Given the description of an element on the screen output the (x, y) to click on. 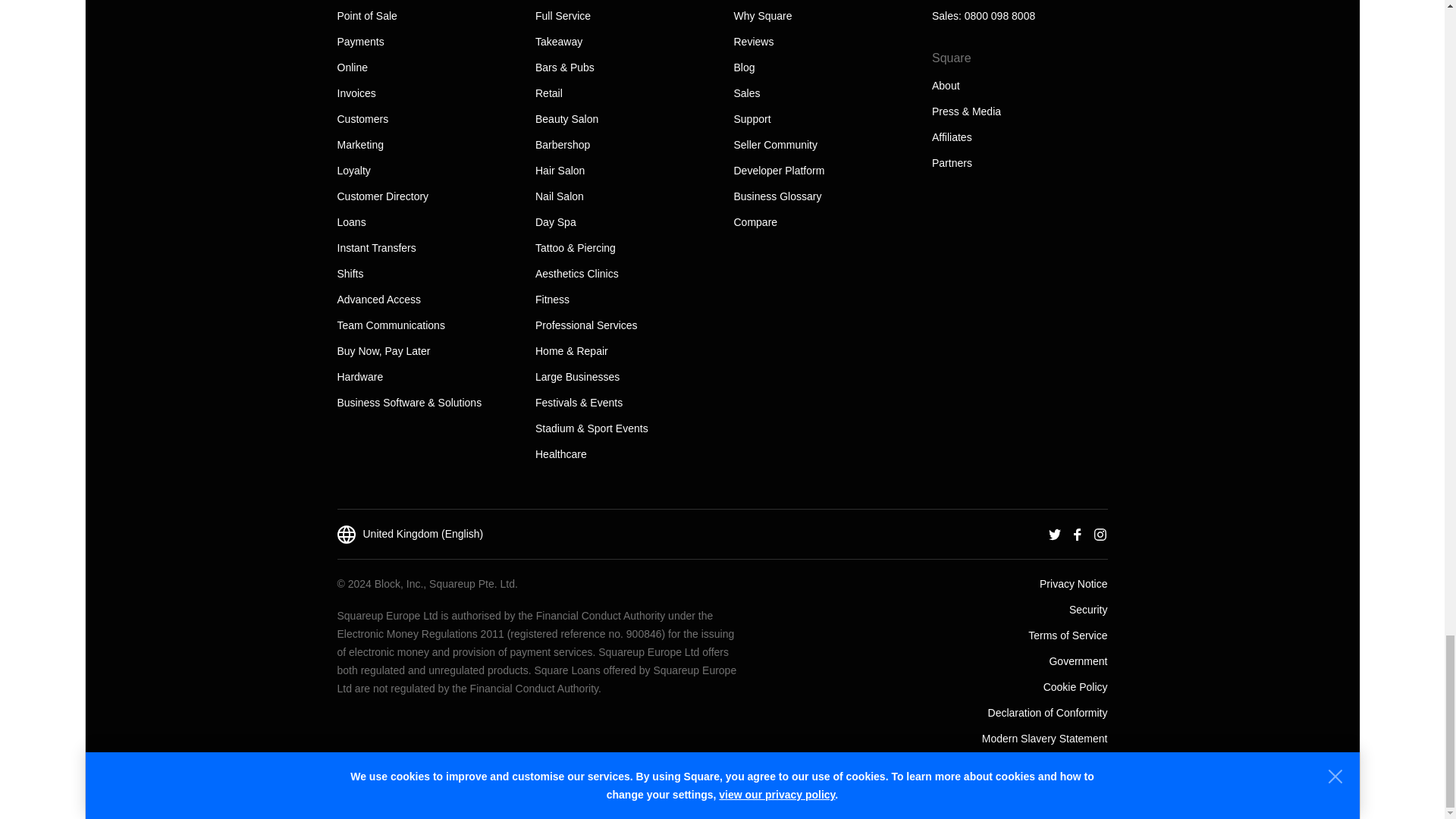
Facebook (1076, 533)
Instagram (1099, 533)
Twitter (1053, 533)
